Given the description of an element on the screen output the (x, y) to click on. 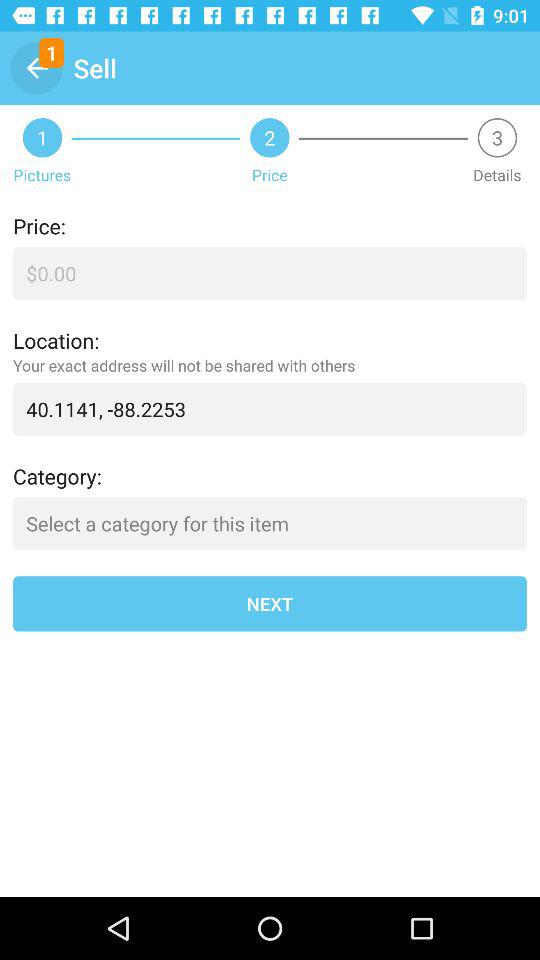
type price (269, 273)
